Given the description of an element on the screen output the (x, y) to click on. 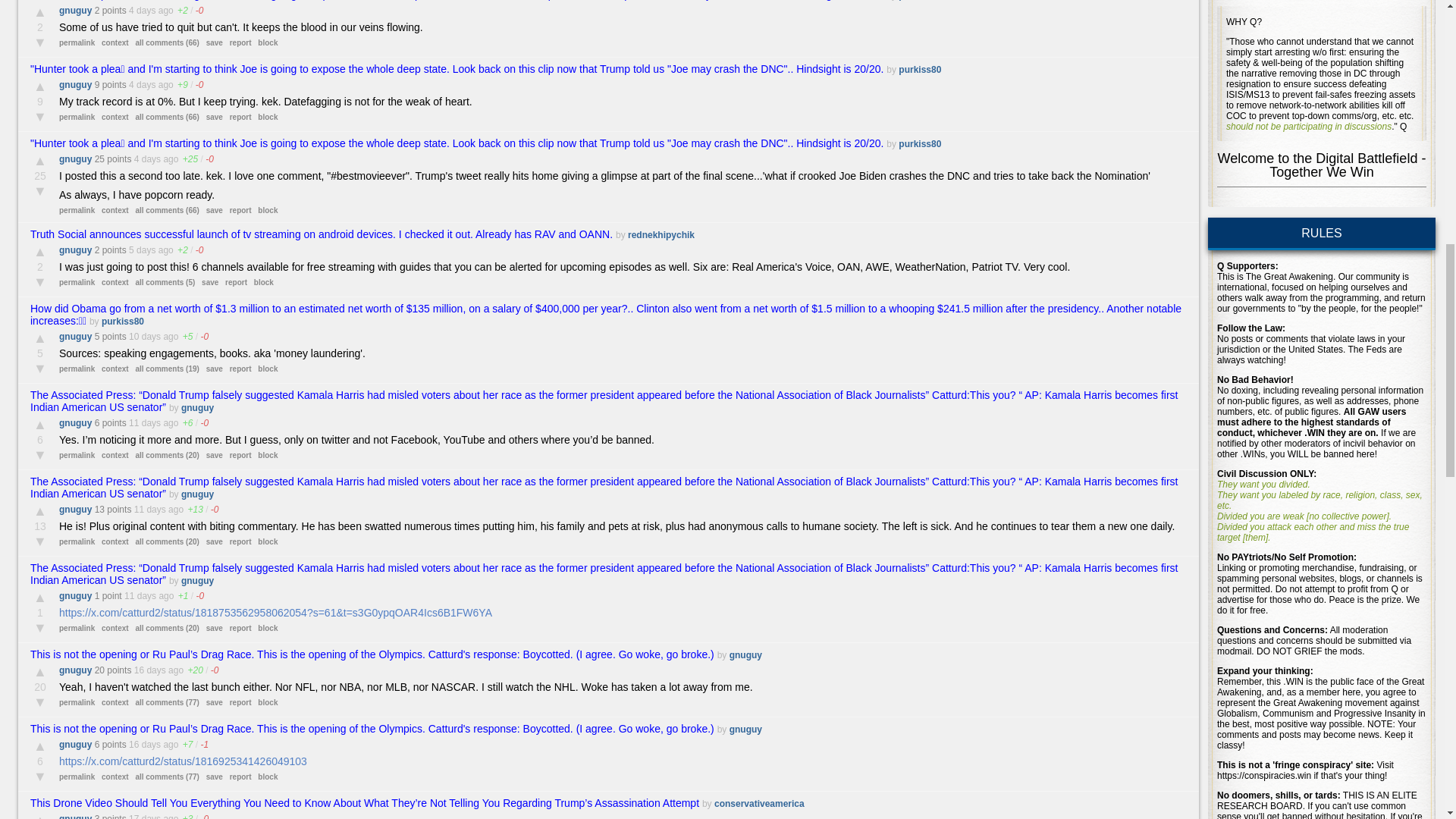
Thu Aug 01 15:58:42 GMT 2024 (144, 336)
Wed Jul 31 22:19:42 GMT 2024 (149, 509)
Fri Jul 26 13:43:12 GMT 2024 (144, 816)
Fri Jul 26 20:17:25 GMT 2024 (149, 670)
Wed Jul 31 22:04:29 GMT 2024 (139, 595)
Wed Aug 07 14:18:37 GMT 2024 (146, 158)
Wed Aug 07 15:58:51 GMT 2024 (142, 84)
Tue Aug 06 19:47:52 GMT 2024 (142, 249)
Wed Jul 31 23:21:45 GMT 2024 (144, 422)
Wed Aug 07 20:50:33 GMT 2024 (142, 9)
